Given the description of an element on the screen output the (x, y) to click on. 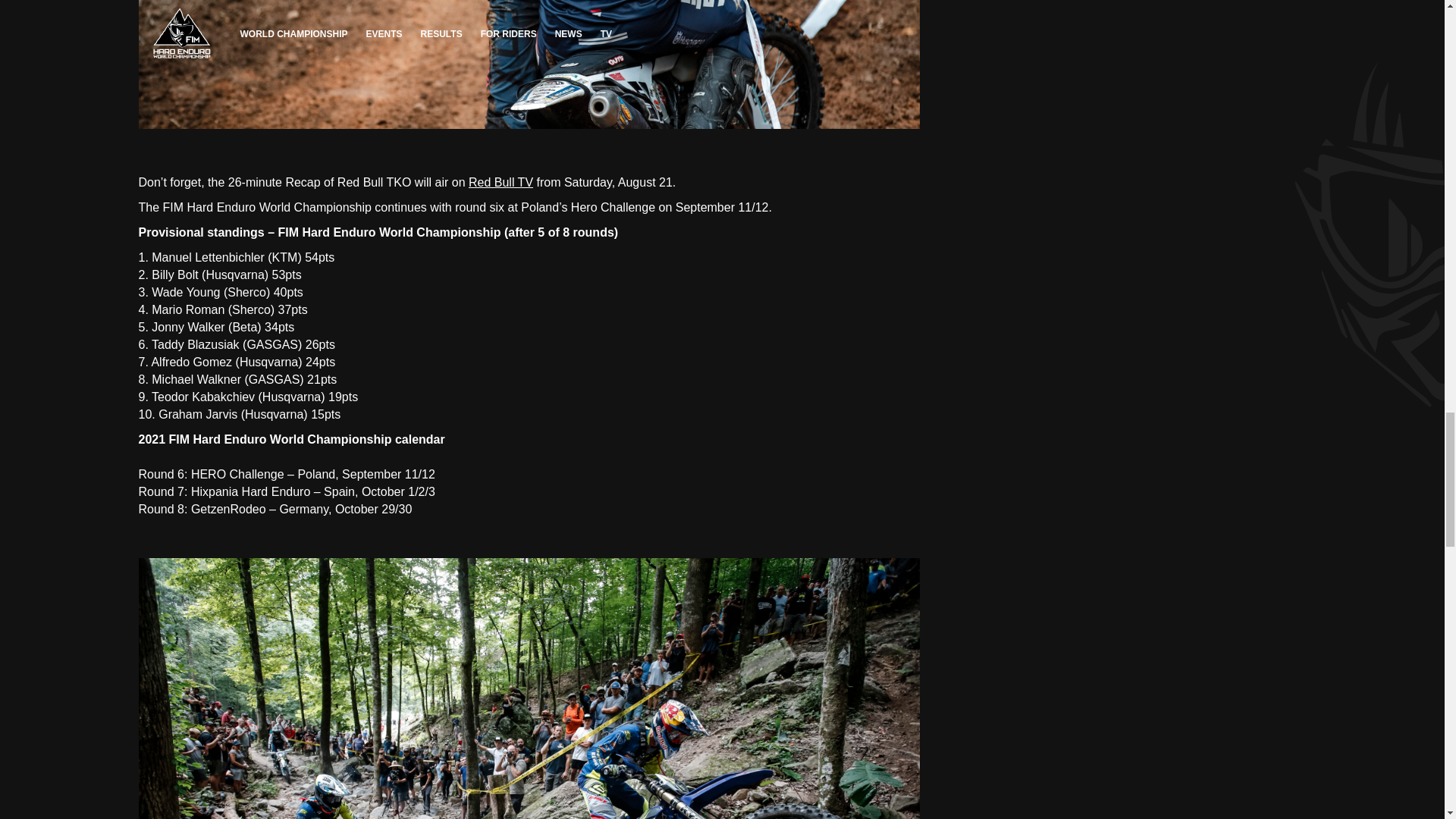
Red Bull TV (500, 182)
